Given the description of an element on the screen output the (x, y) to click on. 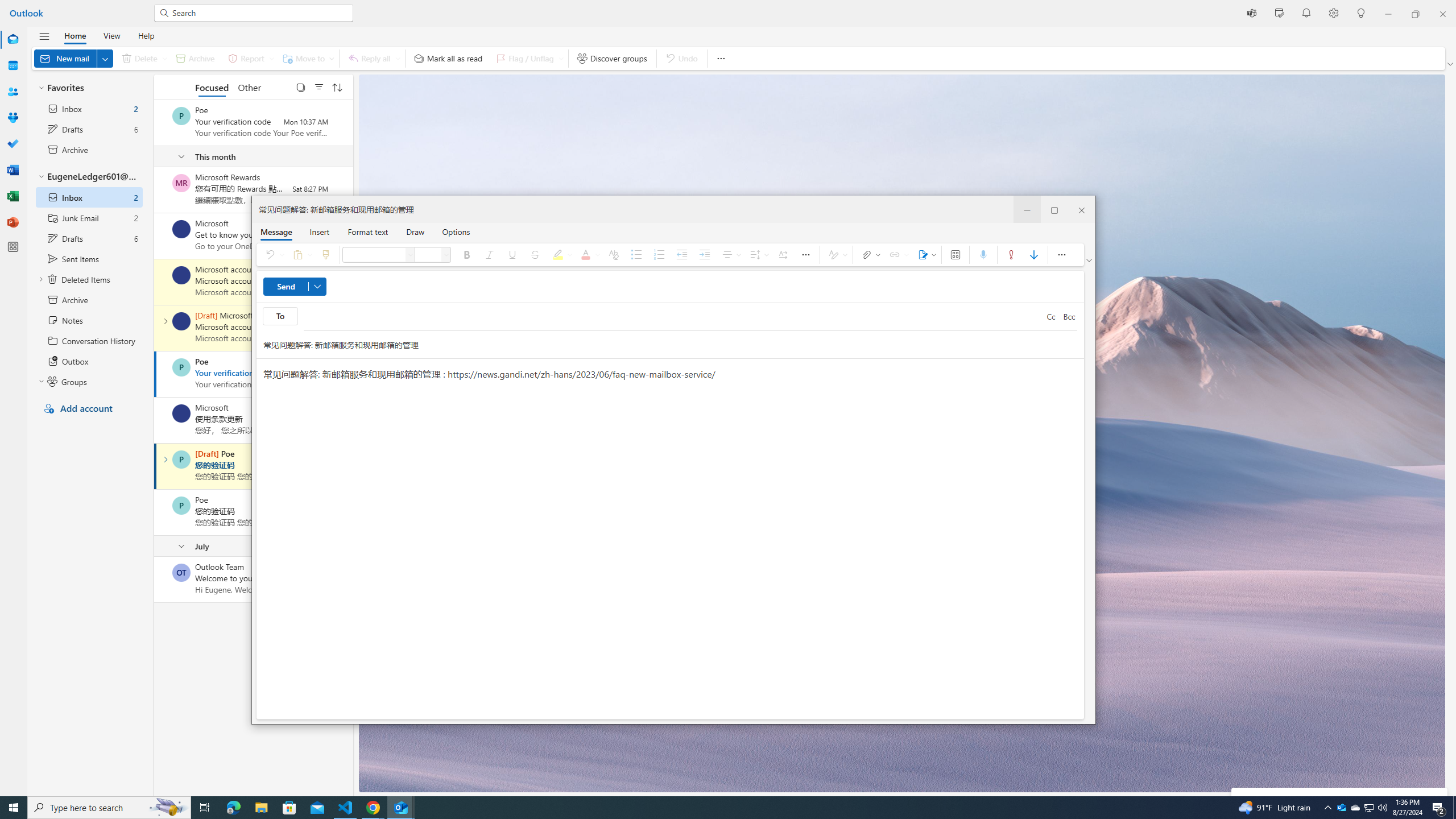
Bold (467, 254)
To Do (12, 143)
File Explorer (261, 807)
Word (12, 169)
High importance (1011, 254)
More options (1061, 254)
Mail (12, 39)
People (12, 91)
Font color (588, 254)
Move to (306, 58)
Sorted: By Date (336, 86)
Decrease indent (682, 254)
PowerPoint (12, 222)
Calendar (12, 65)
Expand to see more report options (271, 58)
